Given the description of an element on the screen output the (x, y) to click on. 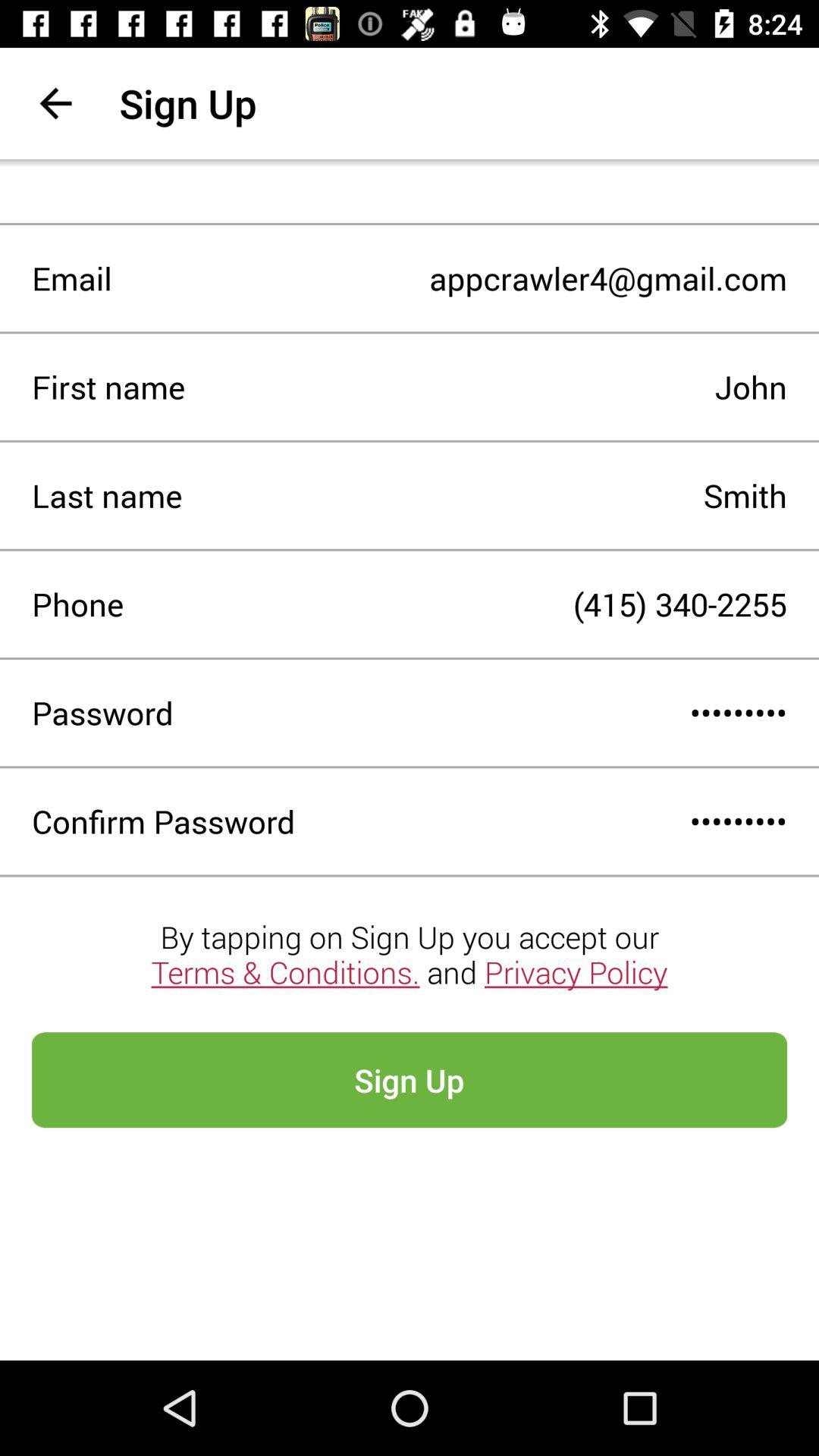
flip until smith icon (484, 495)
